Given the description of an element on the screen output the (x, y) to click on. 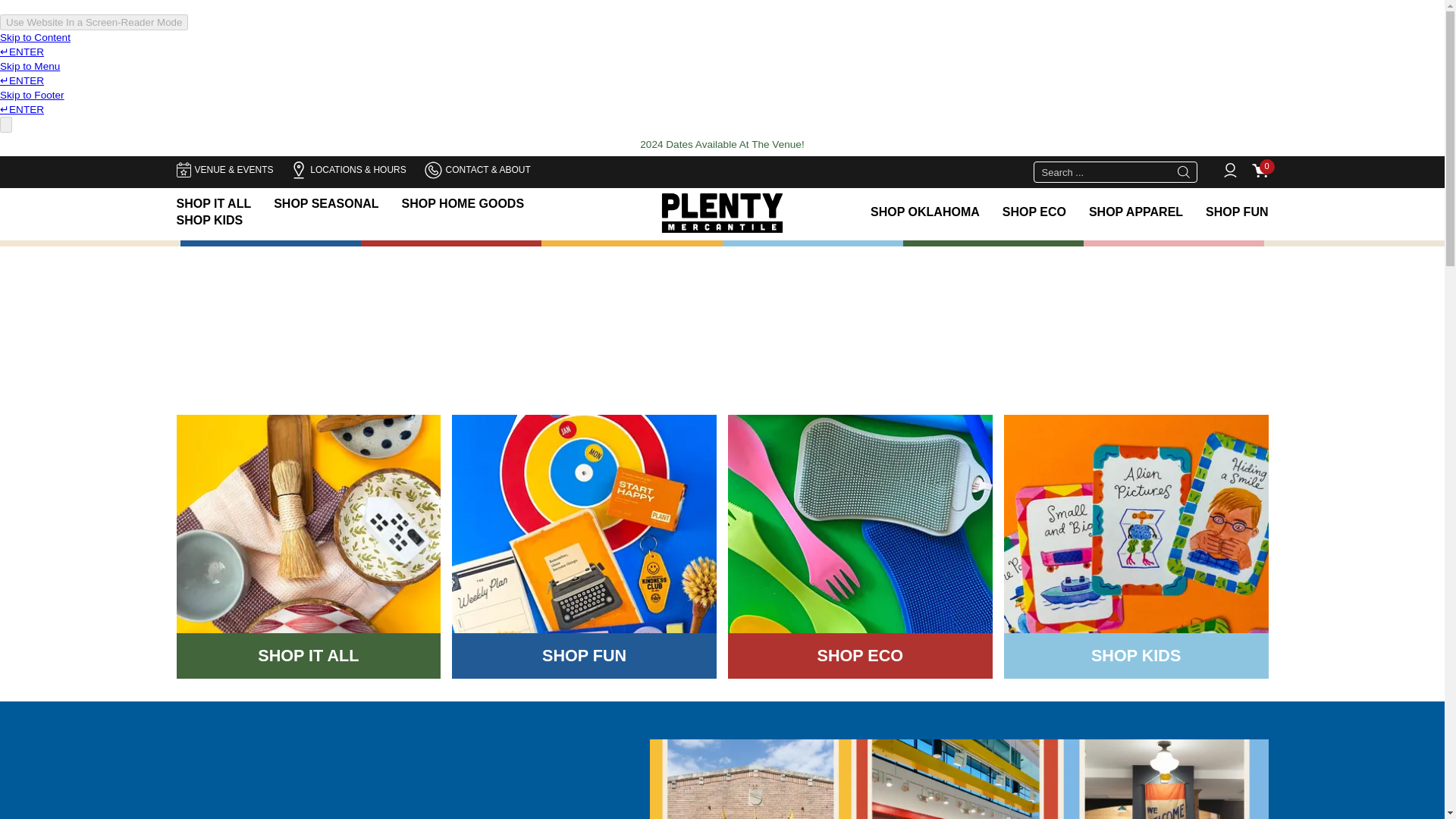
My account (1230, 173)
Search (1183, 171)
SHOP KIDS (209, 220)
SHOP APPAREL (1135, 211)
SHOP IT ALL (213, 203)
SHOP FUN (1236, 211)
My cart (1259, 173)
SHOP OKLAHOMA (924, 211)
0 (1259, 173)
SHOP HOME GOODS (462, 203)
